Given the description of an element on the screen output the (x, y) to click on. 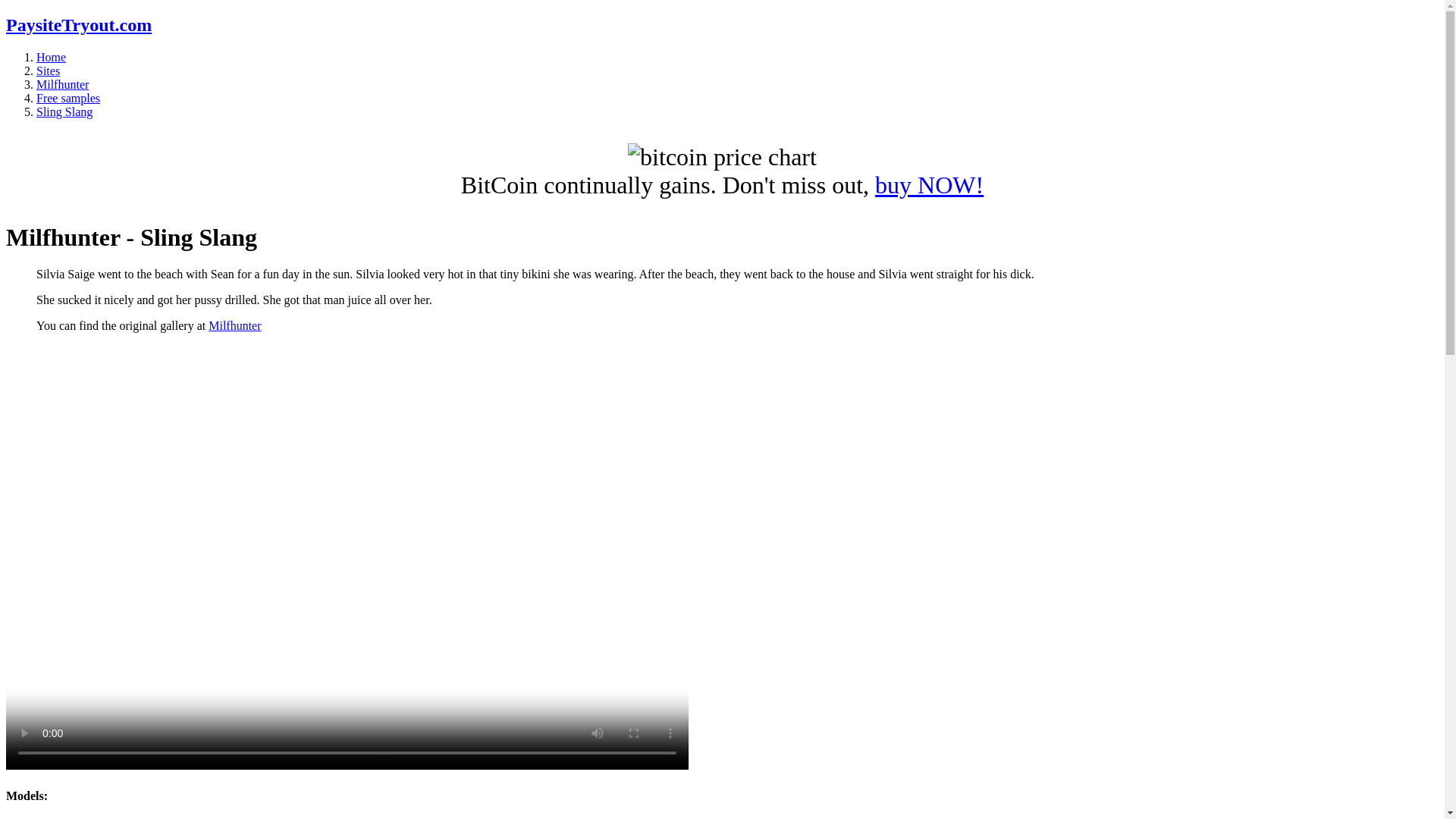
Home (50, 56)
Sites (47, 70)
buy NOW! (929, 185)
Milfhunter (62, 83)
Free samples (68, 97)
Milfhunter (234, 325)
Sling Slang (64, 111)
